Given the description of an element on the screen output the (x, y) to click on. 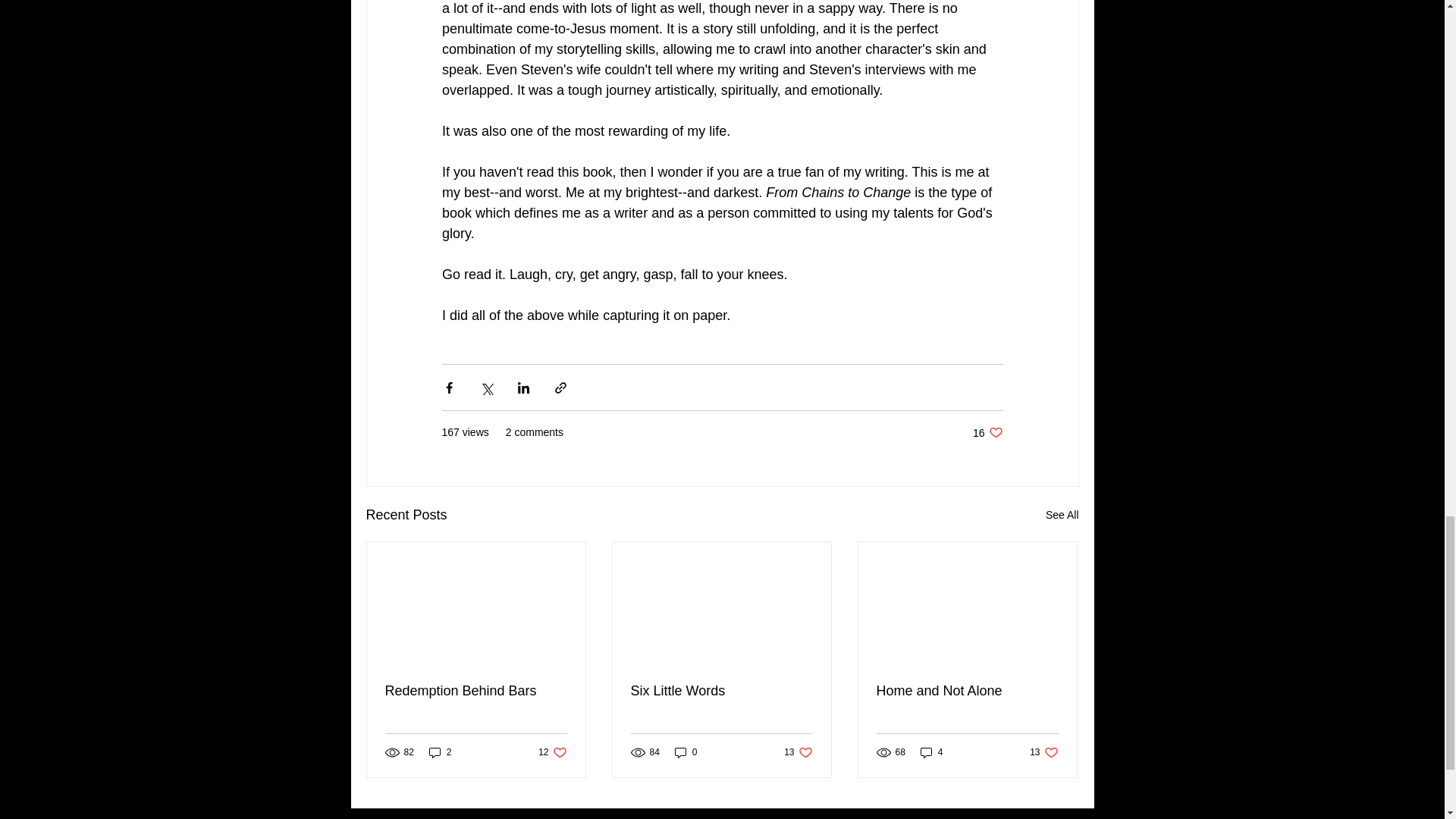
See All (1061, 515)
0 (685, 752)
Redemption Behind Bars (1043, 752)
Home and Not Alone (476, 691)
Six Little Words (967, 691)
2 (552, 752)
4 (721, 691)
